Given the description of an element on the screen output the (x, y) to click on. 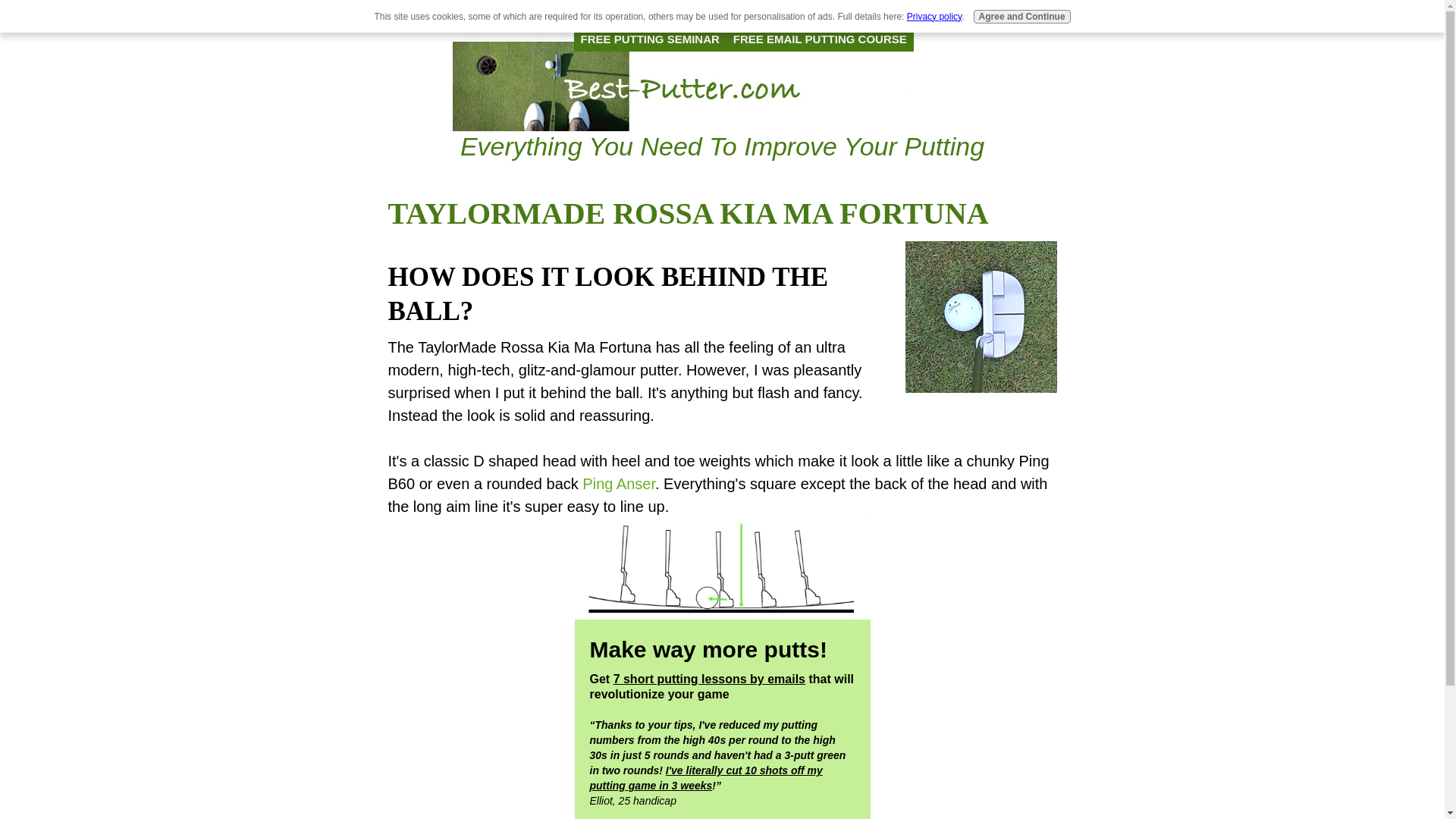
BEST PUTTING TIPS (926, 12)
Ping Anser (618, 483)
Privacy policy (933, 16)
FREE EMAIL PUTTING COURSE (820, 38)
Agree and Continue (1022, 16)
FREE PUTTING SEMINAR (649, 38)
